Given the description of an element on the screen output the (x, y) to click on. 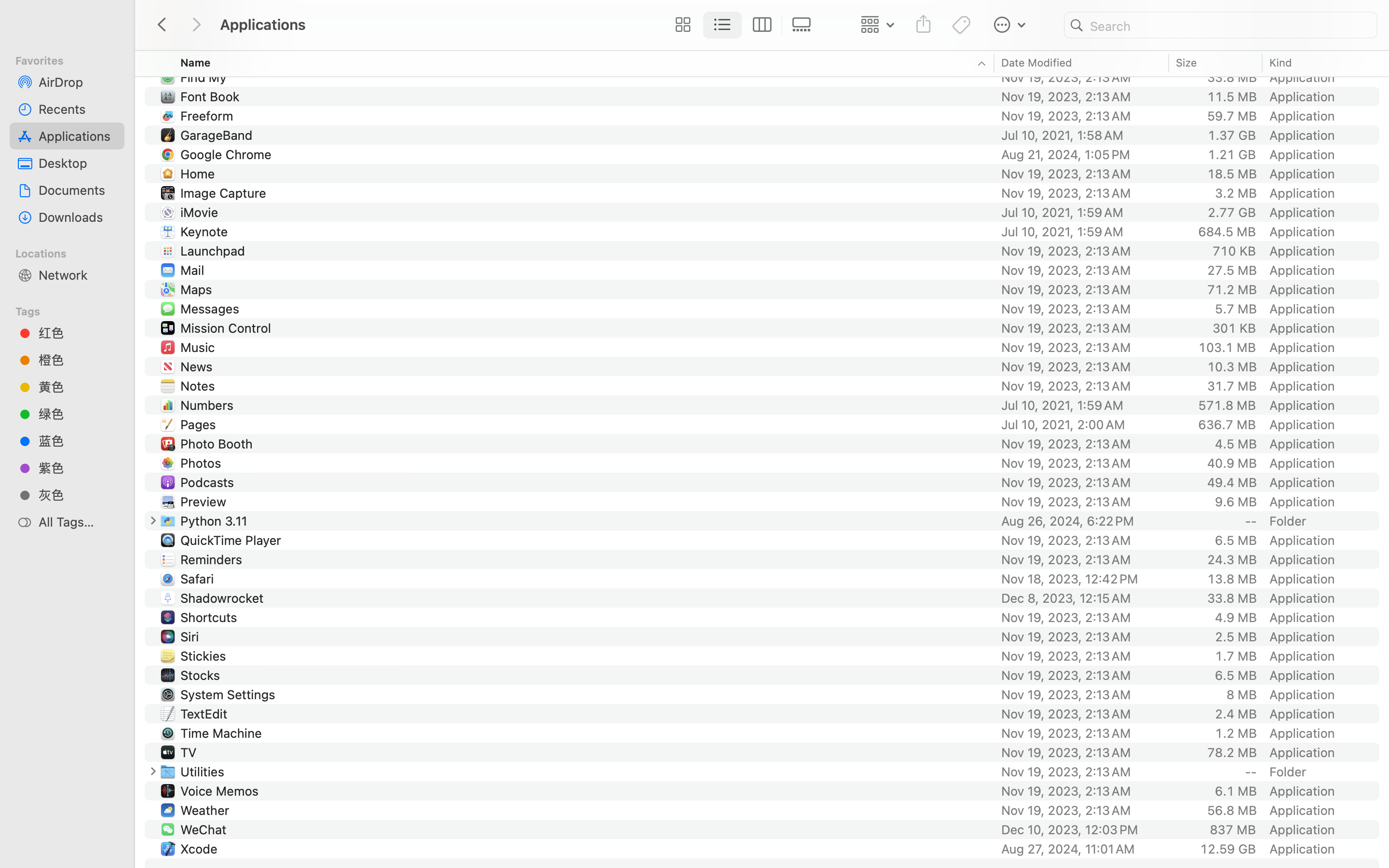
59.7 MB Element type: AXStaticText (1231, 115)
Photo Booth Element type: AXTextField (218, 443)
All Tags… Element type: AXStaticText (77, 521)
Downloads Element type: AXStaticText (77, 216)
24.3 MB Element type: AXStaticText (1231, 559)
